Given the description of an element on the screen output the (x, y) to click on. 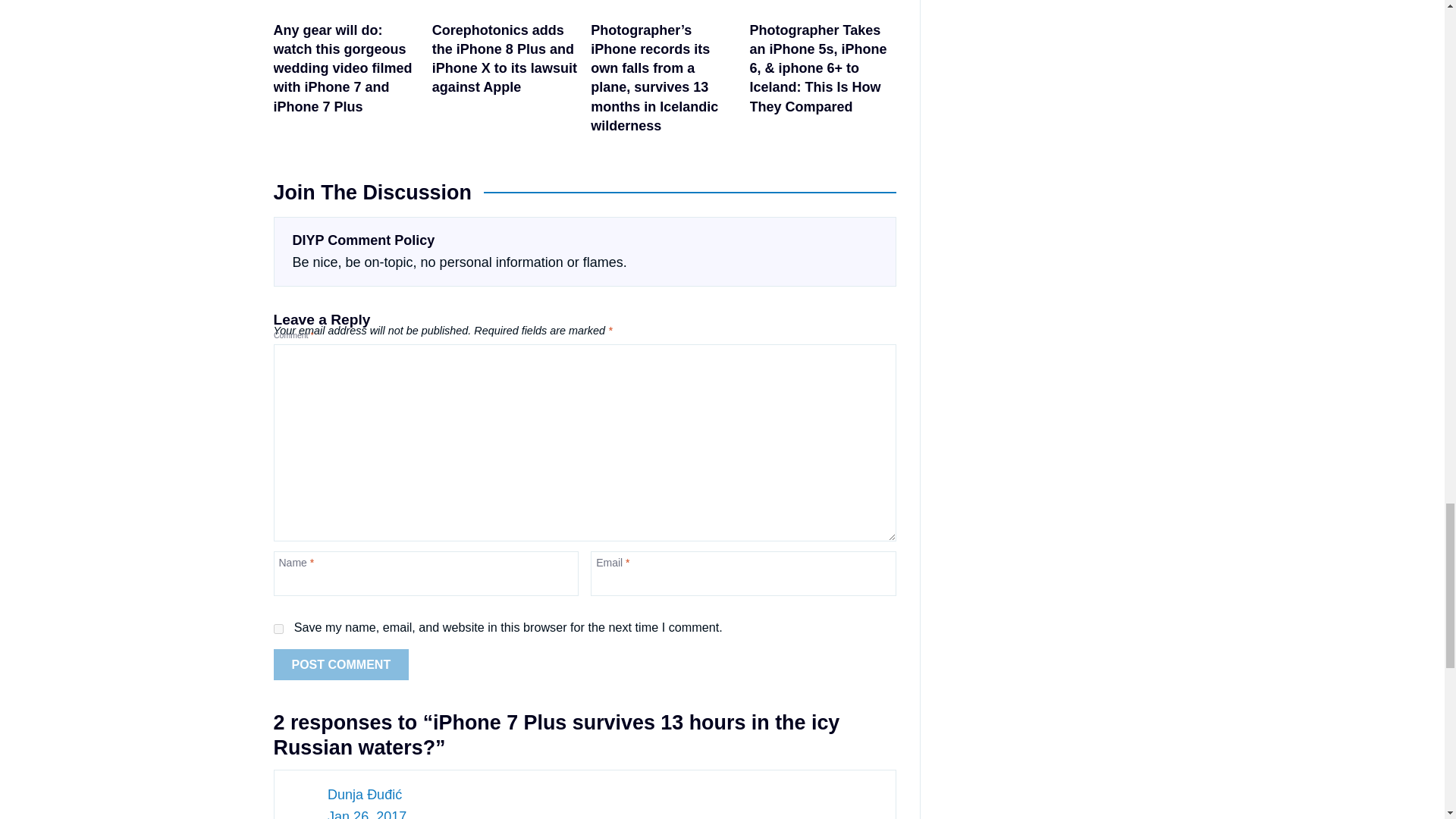
yes (277, 628)
Post Comment (341, 664)
